Given the description of an element on the screen output the (x, y) to click on. 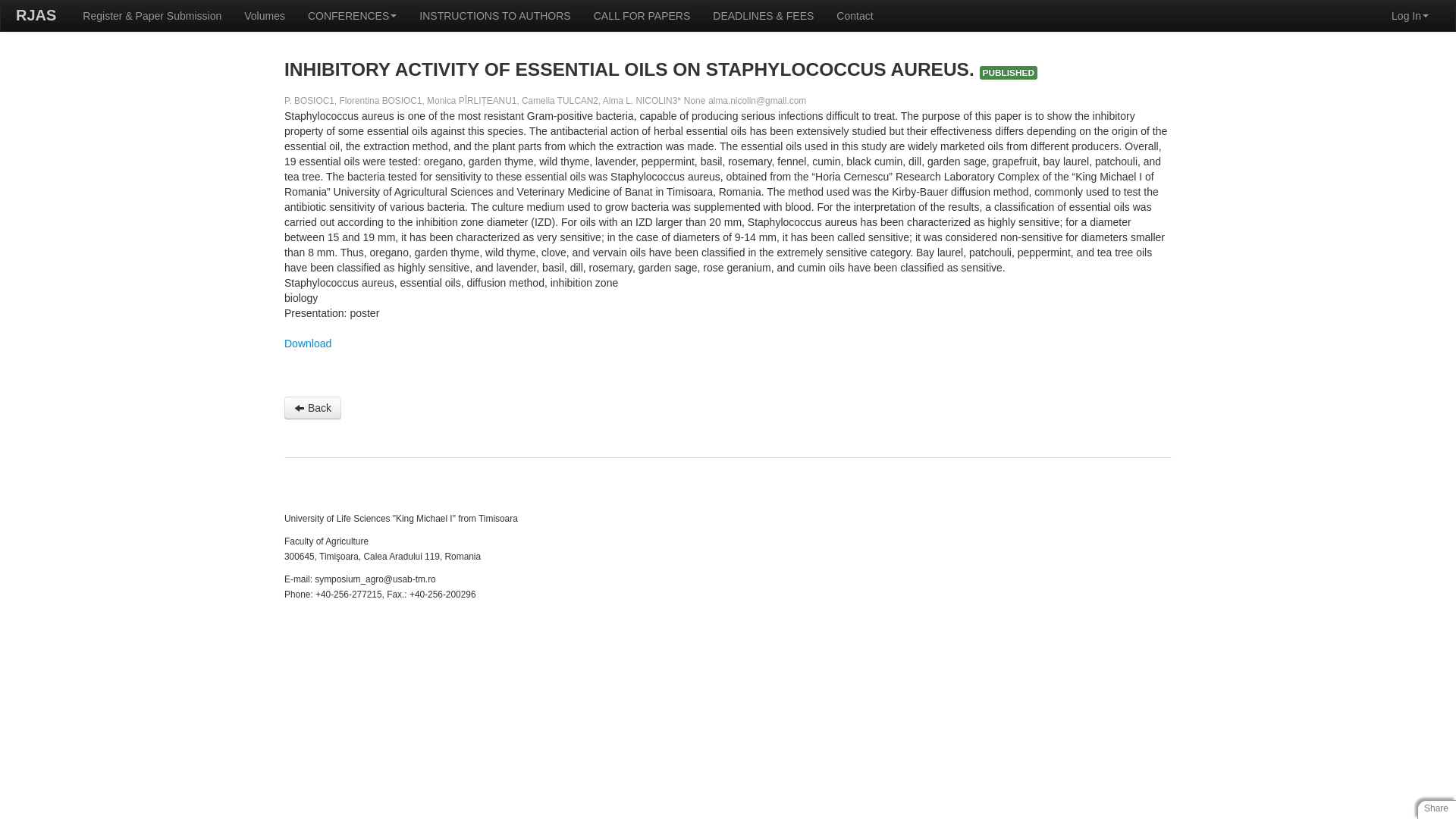
INSTRUCTIONS TO AUTHORS (493, 15)
CONFERENCES (352, 15)
Volumes (264, 15)
Log In (1409, 15)
Contact (854, 15)
RJAS (36, 15)
CALL FOR PAPERS (641, 15)
Back (311, 407)
Download (307, 343)
